Given the description of an element on the screen output the (x, y) to click on. 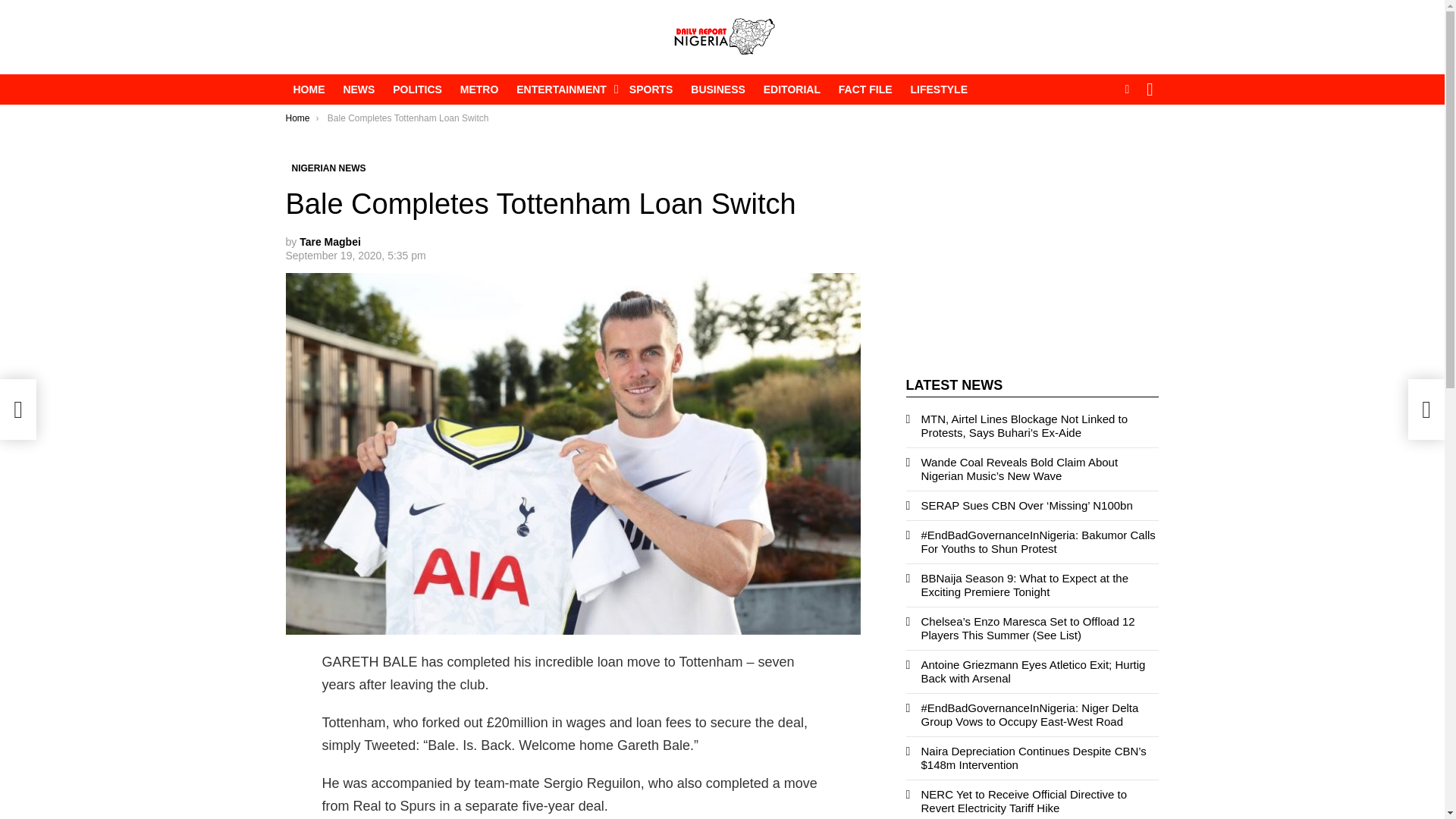
FACT FILE (865, 88)
SPORTS (651, 88)
Posts by Tare Magbei (330, 241)
HOME (308, 88)
NEWS (357, 88)
ENTERTAINMENT (563, 88)
BUSINESS (717, 88)
POLITICS (417, 88)
LIFESTYLE (938, 88)
EDITORIAL (791, 88)
METRO (479, 88)
